Given the description of an element on the screen output the (x, y) to click on. 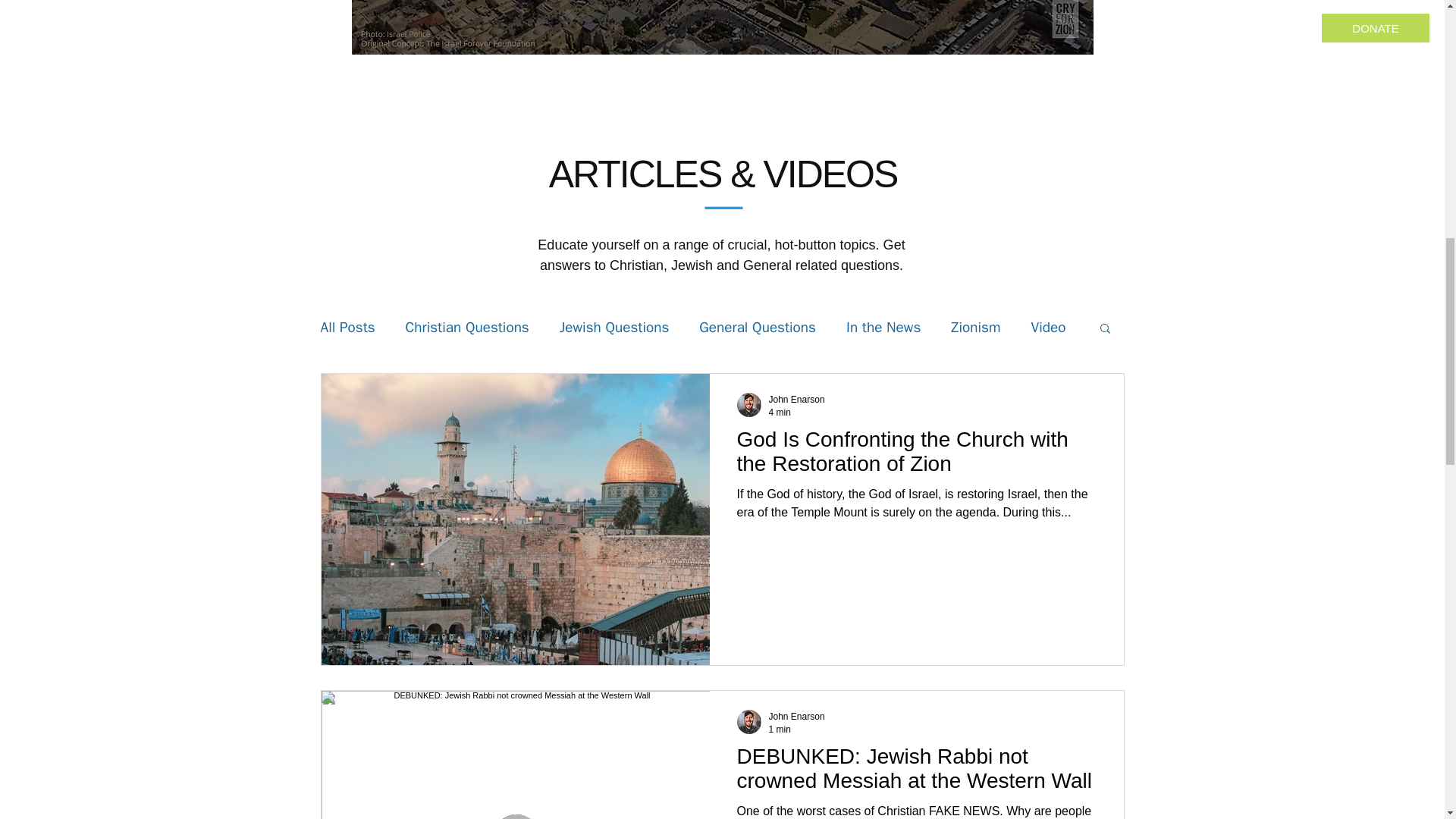
All Posts (347, 327)
John Enarson (796, 398)
In the News (882, 327)
Christian Questions (467, 327)
4 min (779, 411)
Video (1047, 327)
General Questions (756, 327)
John Enarson (796, 716)
Zionism (975, 327)
1 min (779, 728)
